Given the description of an element on the screen output the (x, y) to click on. 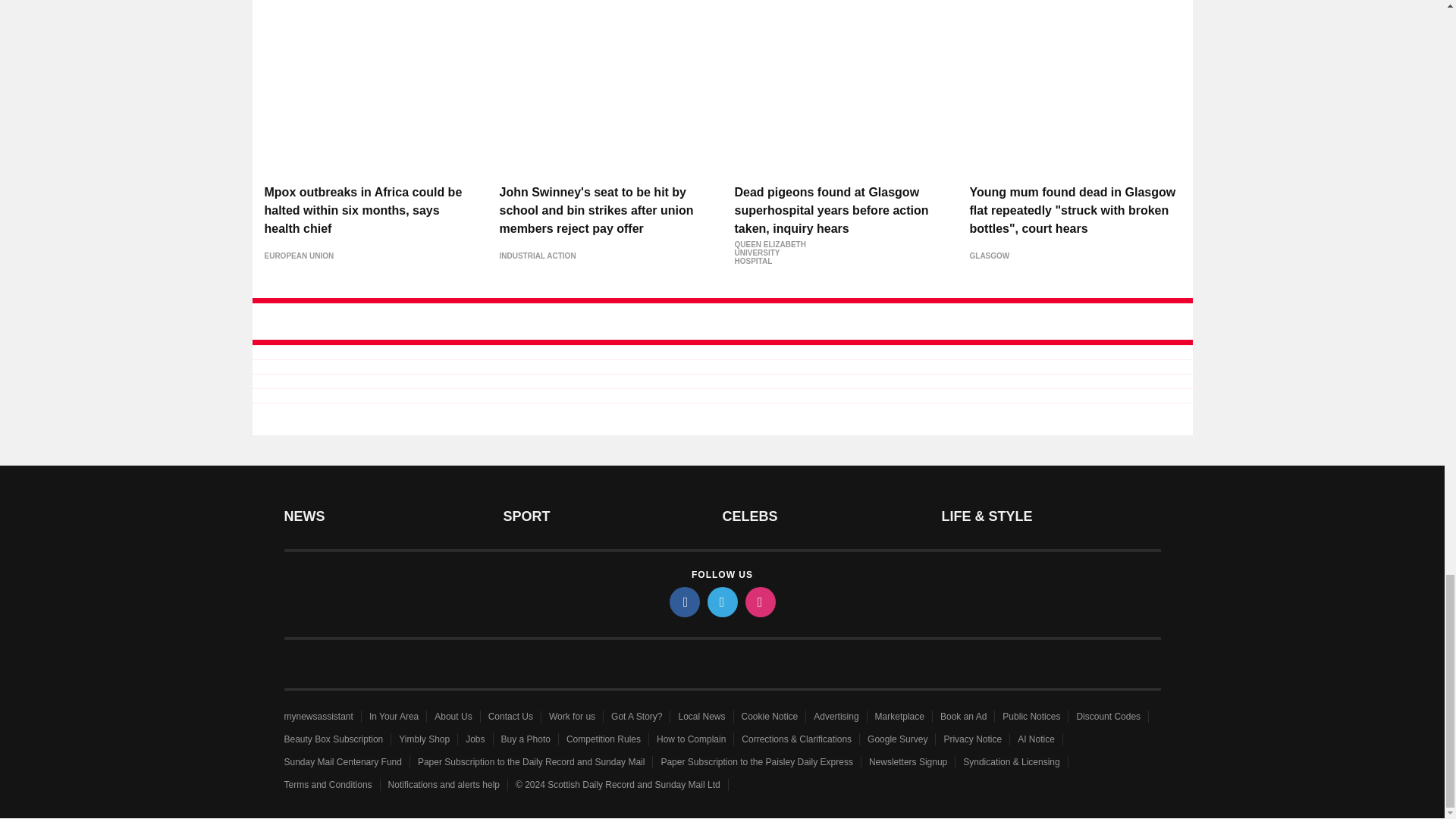
facebook (683, 602)
instagram (759, 602)
twitter (721, 602)
